Given the description of an element on the screen output the (x, y) to click on. 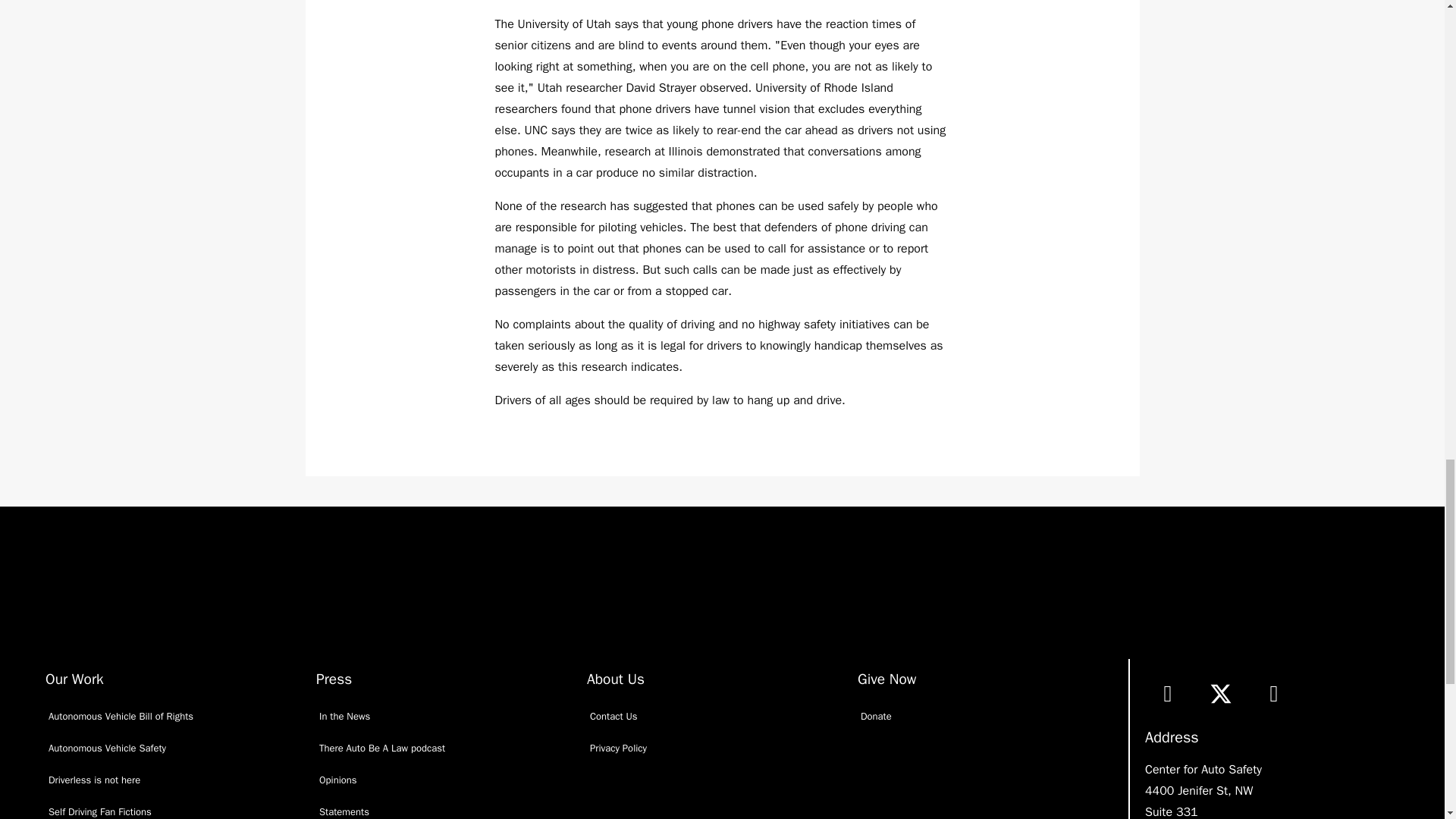
Driverless is not here (176, 779)
Give Now (886, 679)
Our Work (74, 679)
Press (333, 679)
Instagram (1273, 693)
Facebook (1167, 693)
Autonomous Vehicle Bill of Rights (176, 716)
About Us (615, 679)
Self Driving Fan Fictions (176, 807)
Our Work (74, 679)
